Given the description of an element on the screen output the (x, y) to click on. 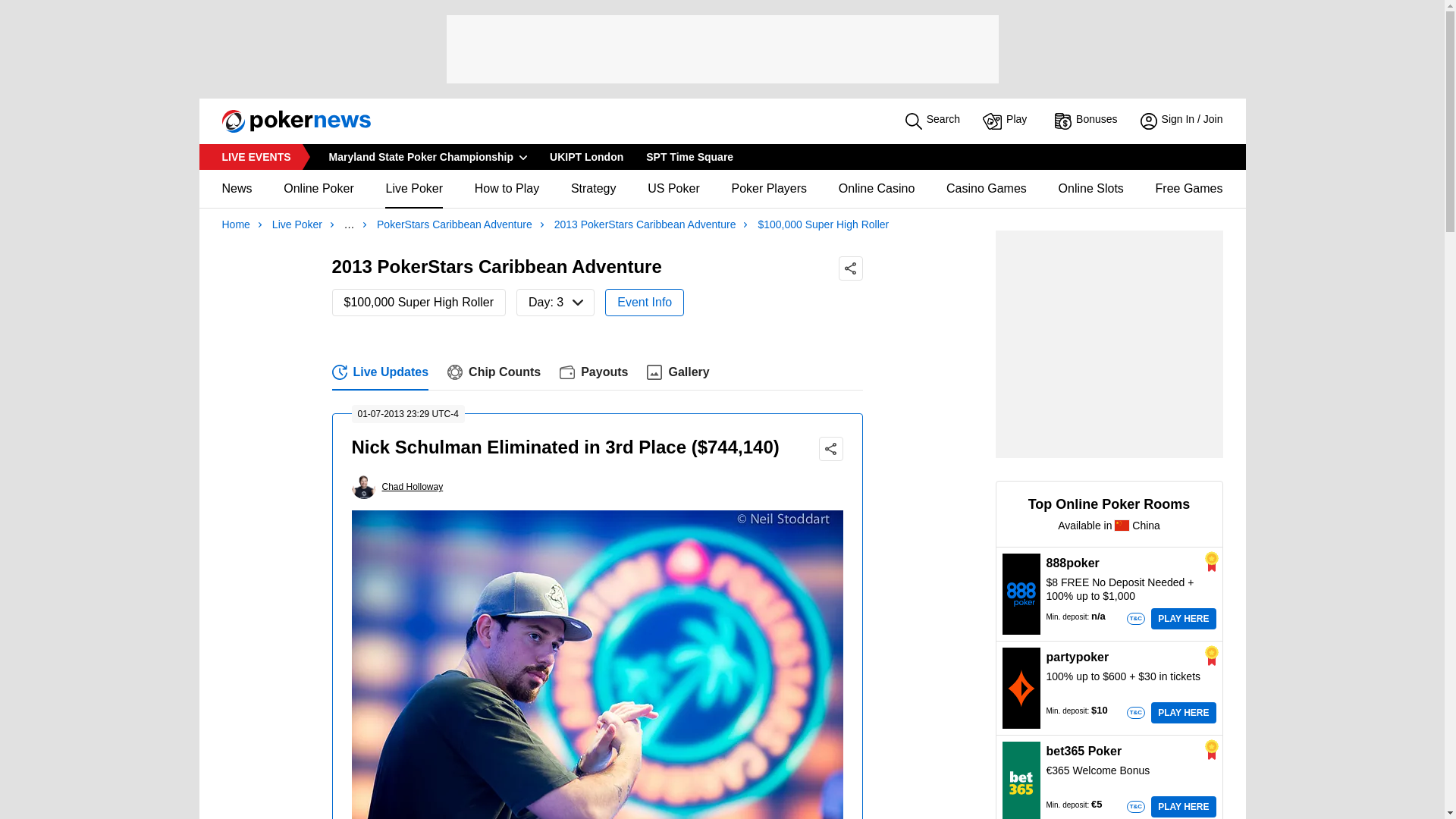
 SPT Time Square (689, 156)
partypoker (1022, 687)
bet365 Poker (1022, 781)
UKIPT London (586, 156)
SPT Time Square (597, 371)
 UKIPT London (689, 156)
Play (586, 156)
LIVE EVENTS (1007, 121)
Poker News (255, 156)
